Given the description of an element on the screen output the (x, y) to click on. 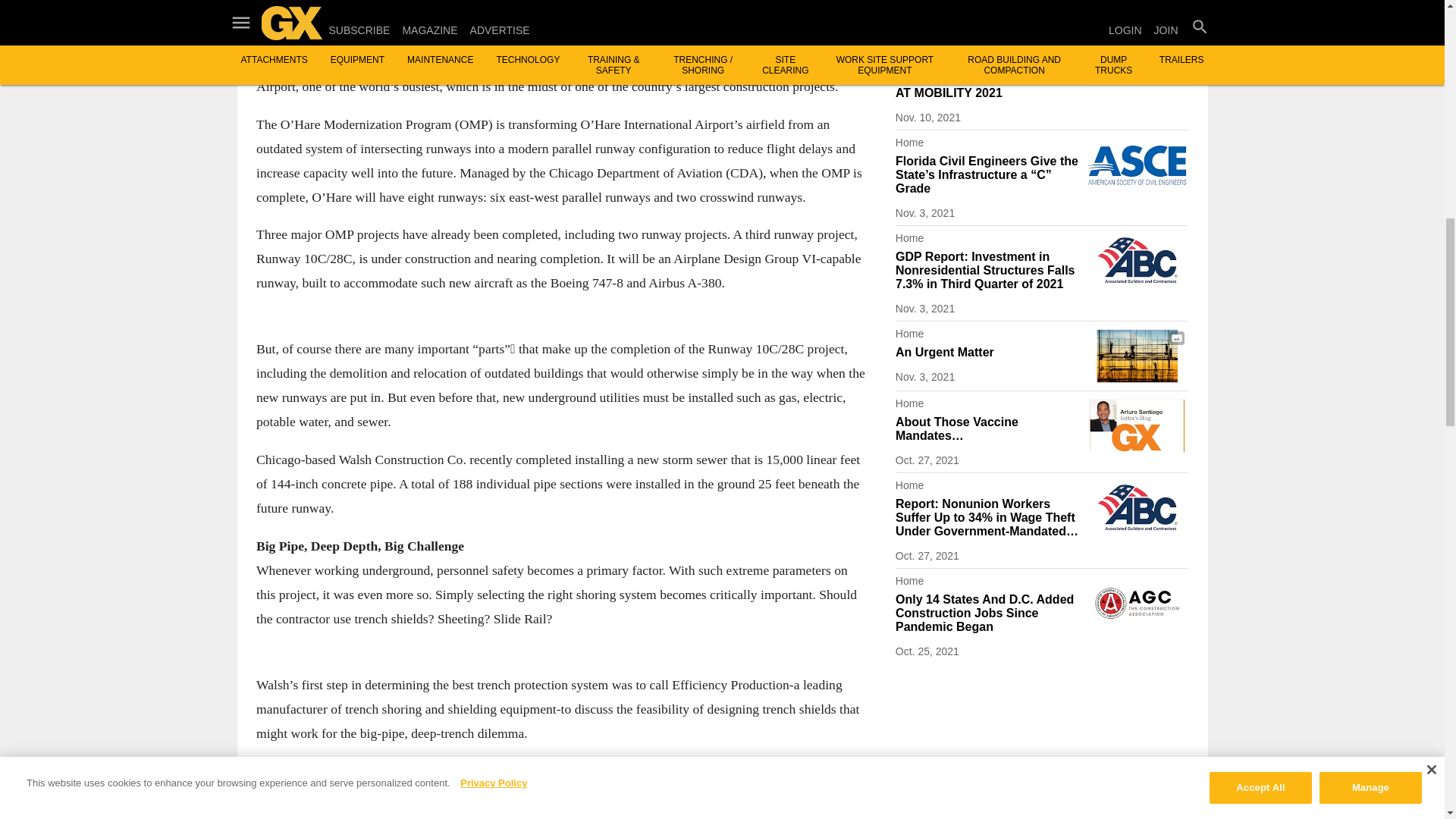
Depositphotos (1137, 355)
Blog Image Gx (1137, 425)
Agc Logo (1137, 1)
American Society Of Civil Engineers Logo 2009 Present (1137, 164)
Agc Logo (1137, 602)
